Given the description of an element on the screen output the (x, y) to click on. 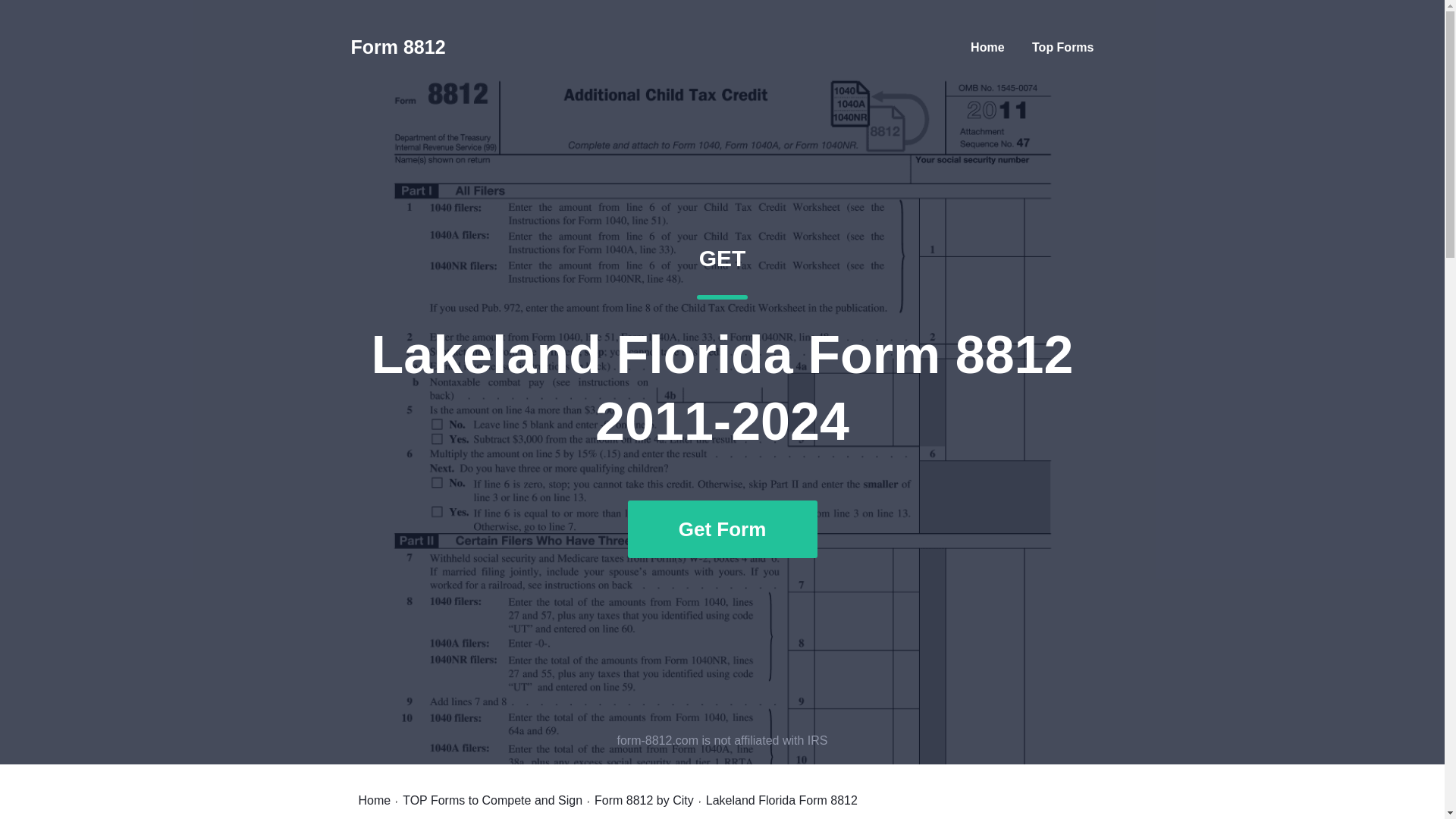
Form 8812 by City (644, 800)
Form 8812 (397, 46)
Home (987, 47)
Top Forms (1062, 47)
TOP Forms to Compete and Sign (492, 800)
